Given the description of an element on the screen output the (x, y) to click on. 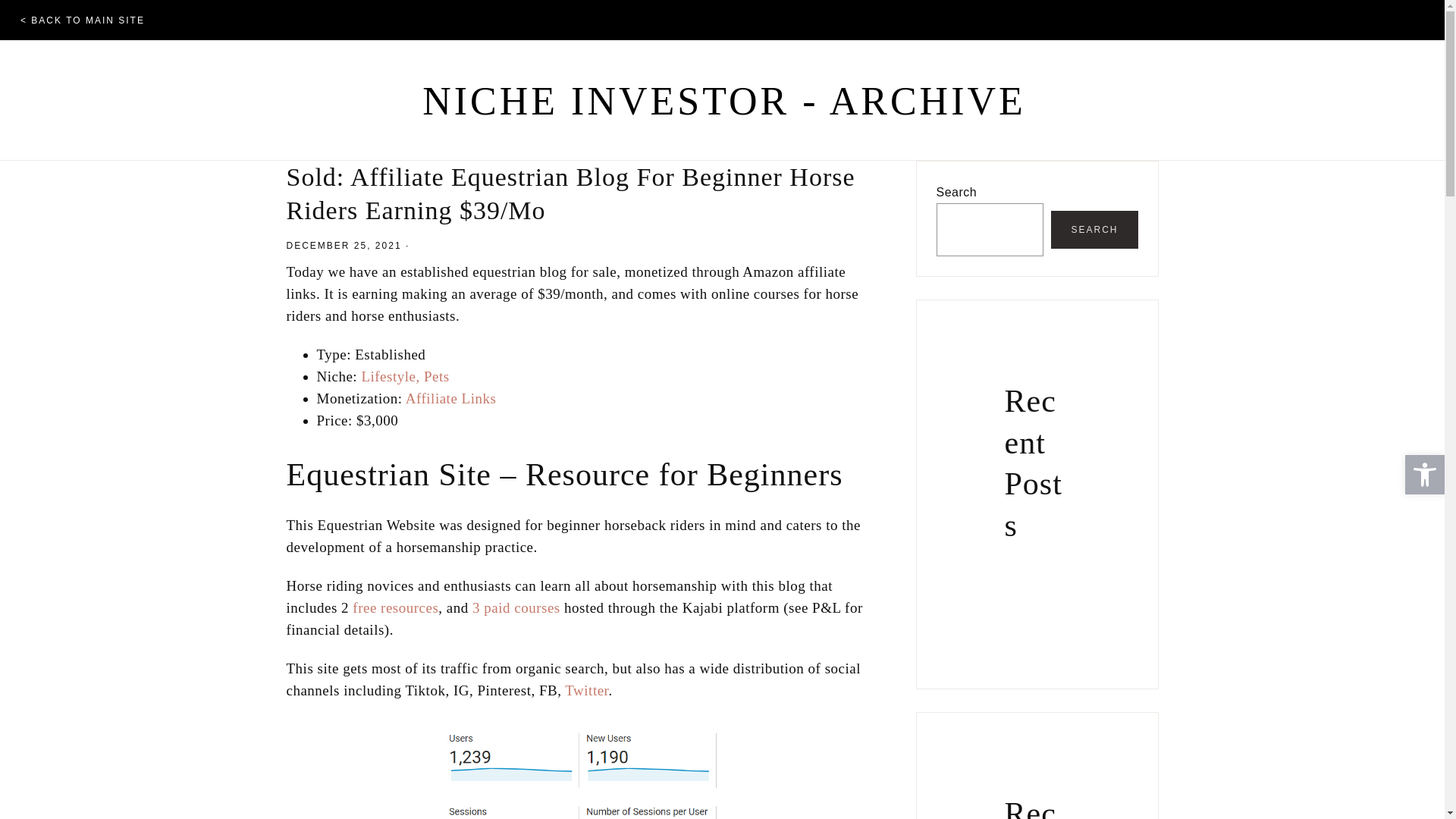
NICHE INVESTOR - ARCHIVE (724, 100)
3 paid courses (515, 607)
Lifestyle, (390, 376)
Accessibility Tools (1424, 474)
free resources (395, 607)
Twitter (586, 690)
SEARCH (1094, 229)
Affiliate Links (451, 398)
Pets (436, 376)
